Given the description of an element on the screen output the (x, y) to click on. 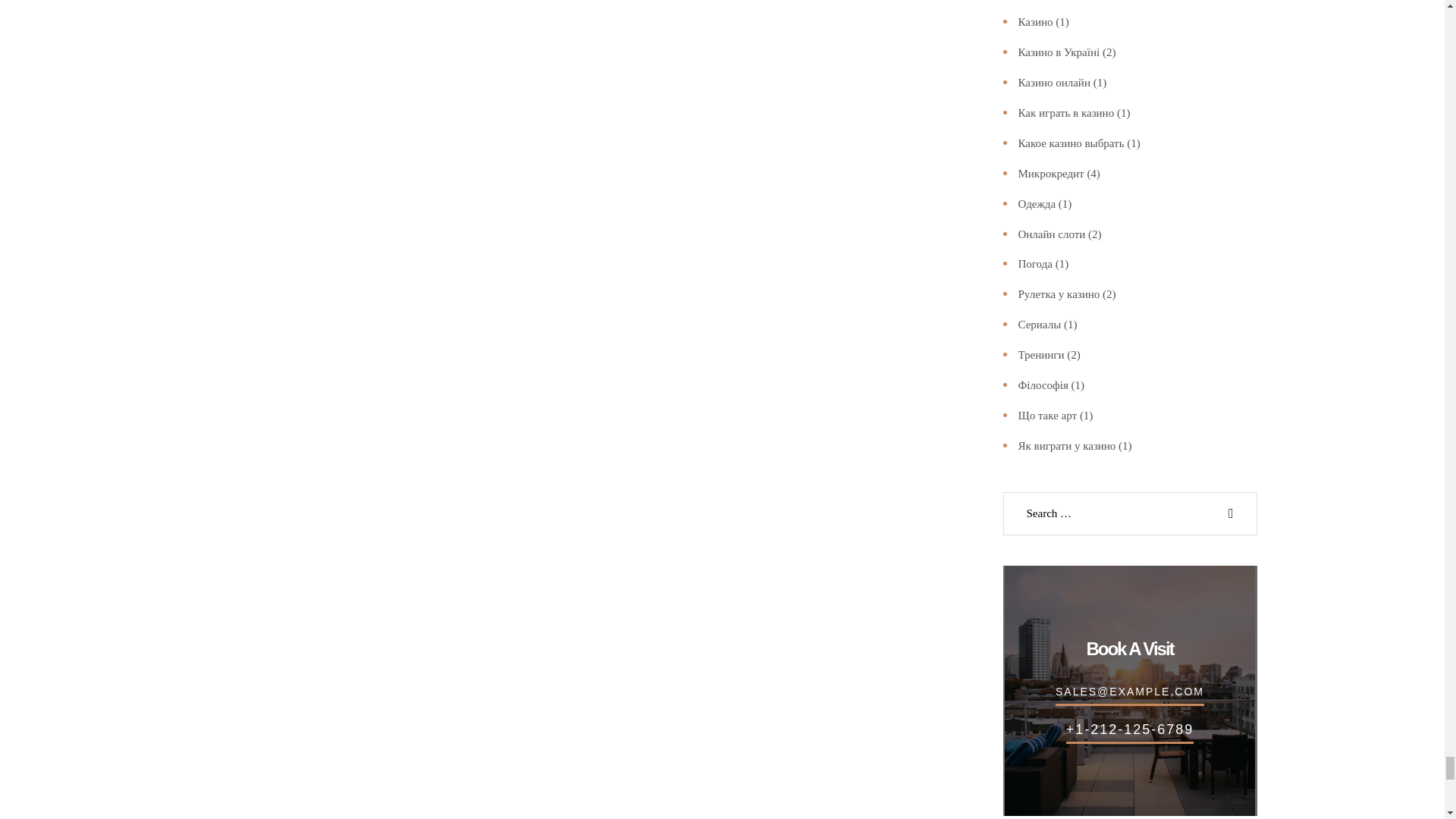
Search (1232, 514)
Search (1232, 514)
